Given the description of an element on the screen output the (x, y) to click on. 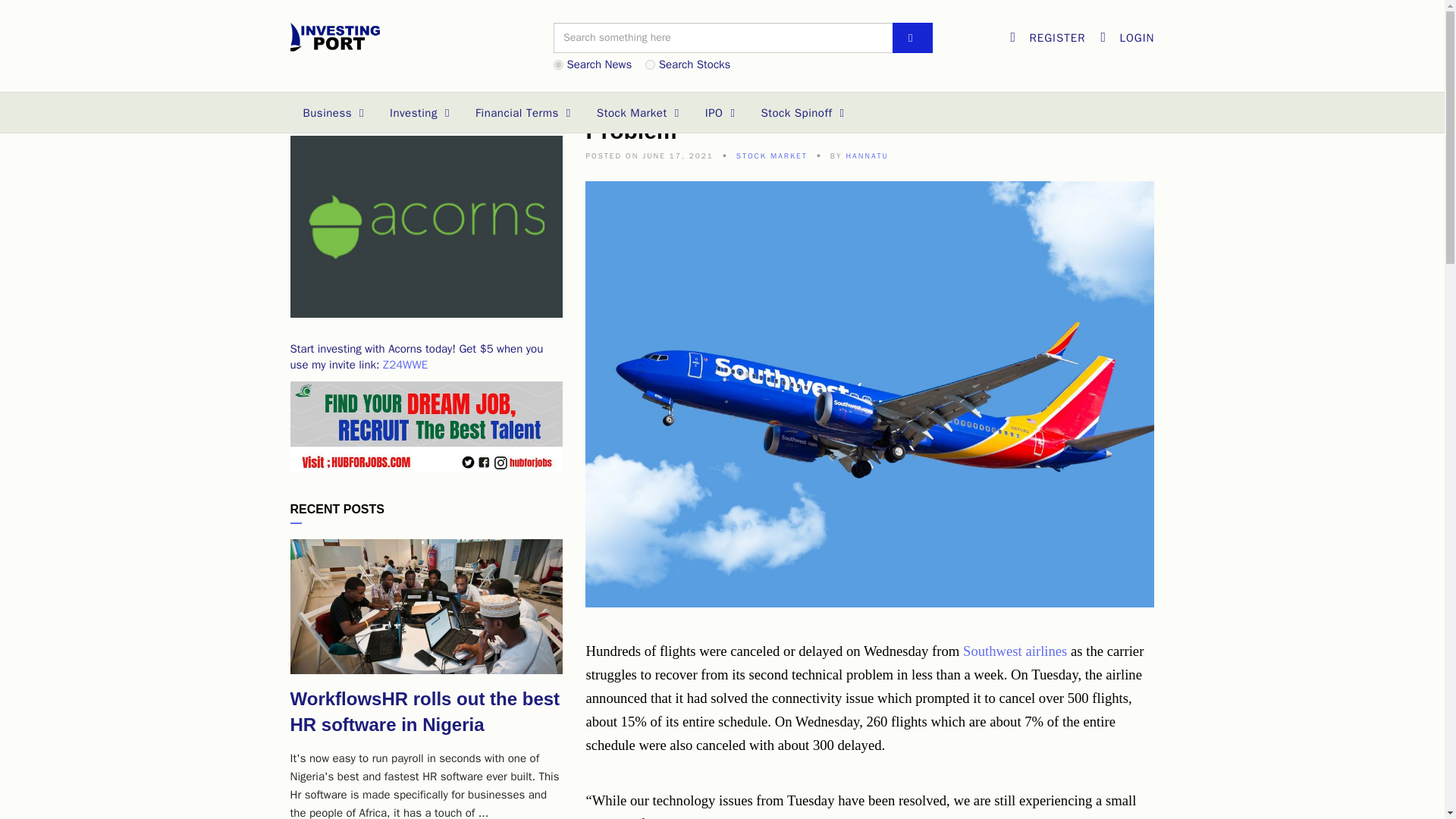
REGISTER (1047, 37)
on (650, 64)
Business (333, 112)
LOGIN (1127, 37)
Investing (420, 112)
on (558, 64)
